Given the description of an element on the screen output the (x, y) to click on. 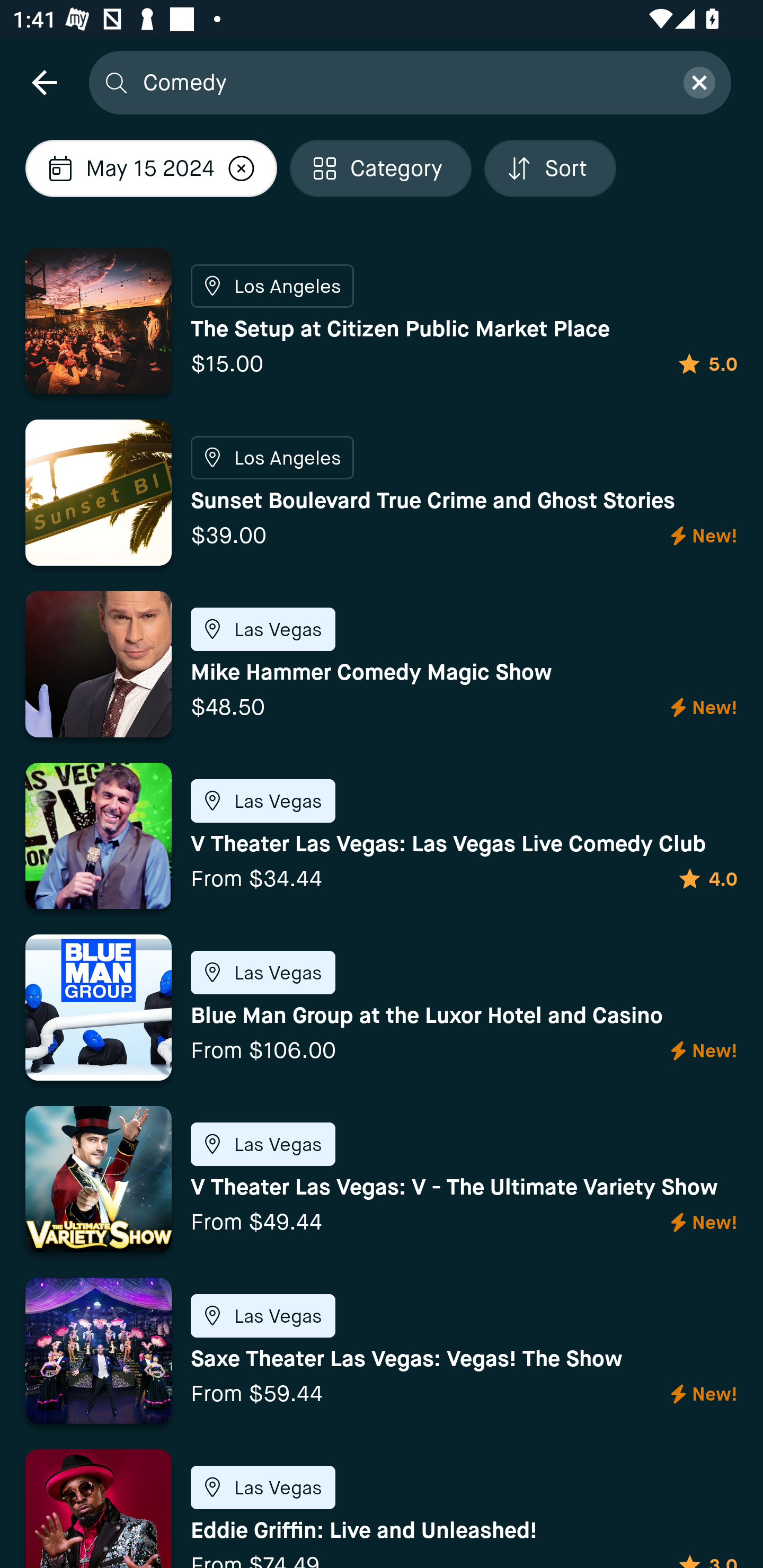
navigation icon (44, 81)
Comedy (402, 81)
Localized description (241, 168)
Localized description Category (380, 168)
Localized description Sort (550, 168)
